Given the description of an element on the screen output the (x, y) to click on. 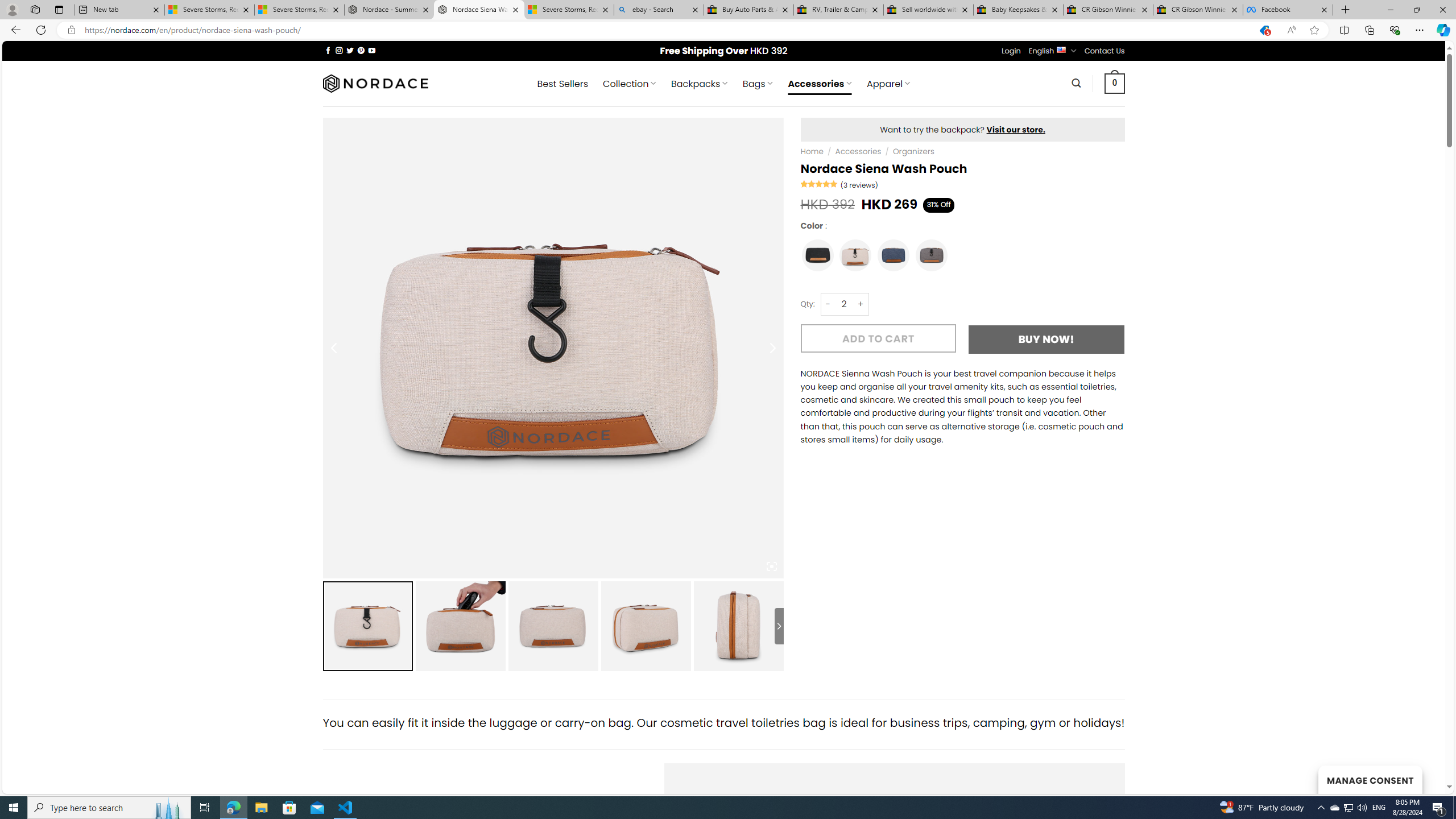
Settings and more (Alt+F) (1419, 29)
Class: iconic-woothumbs-fullscreen (771, 566)
English (1061, 49)
Home (812, 151)
+ (861, 303)
ADD TO CART (878, 338)
Close (1442, 9)
Visit our store. (1015, 129)
Follow on Facebook (327, 49)
This site has coupons! Shopping in Microsoft Edge, 5 (1263, 29)
